Given the description of an element on the screen output the (x, y) to click on. 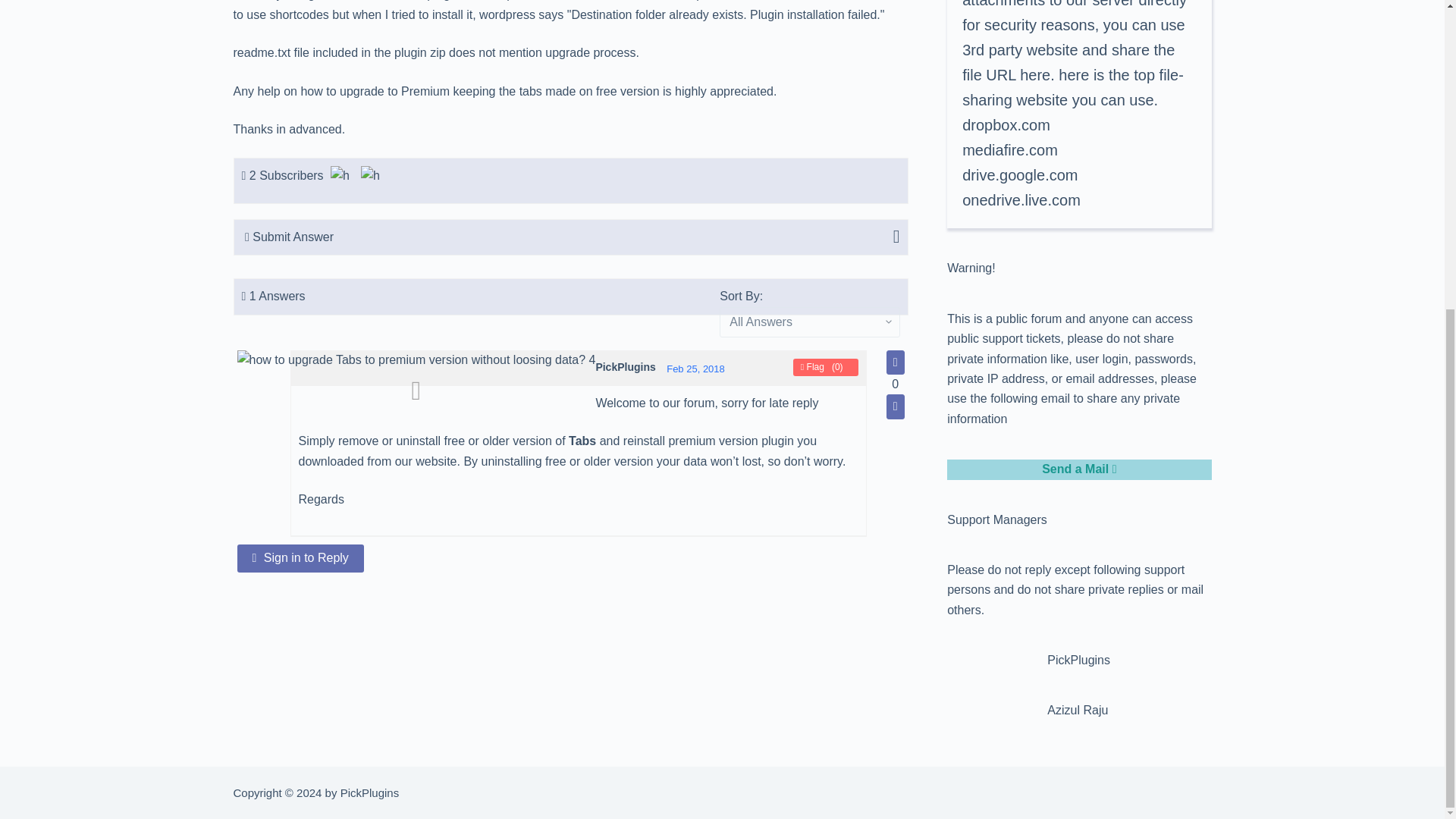
leo (341, 177)
Choose best answer (415, 391)
PickPlugins (372, 177)
Feb 25, 2018 10:52 AM (695, 368)
